Given the description of an element on the screen output the (x, y) to click on. 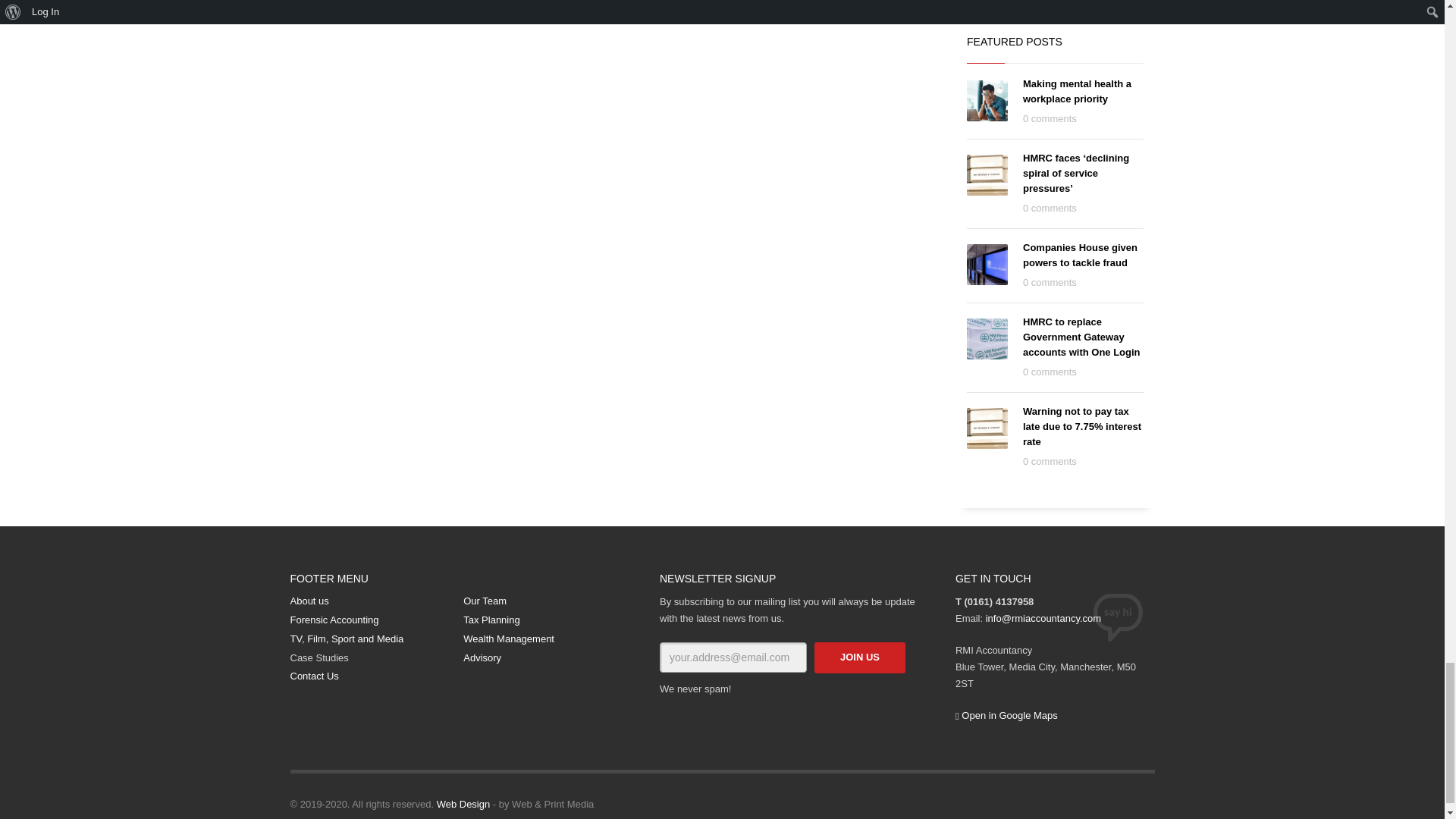
JOIN US (859, 657)
